Given the description of an element on the screen output the (x, y) to click on. 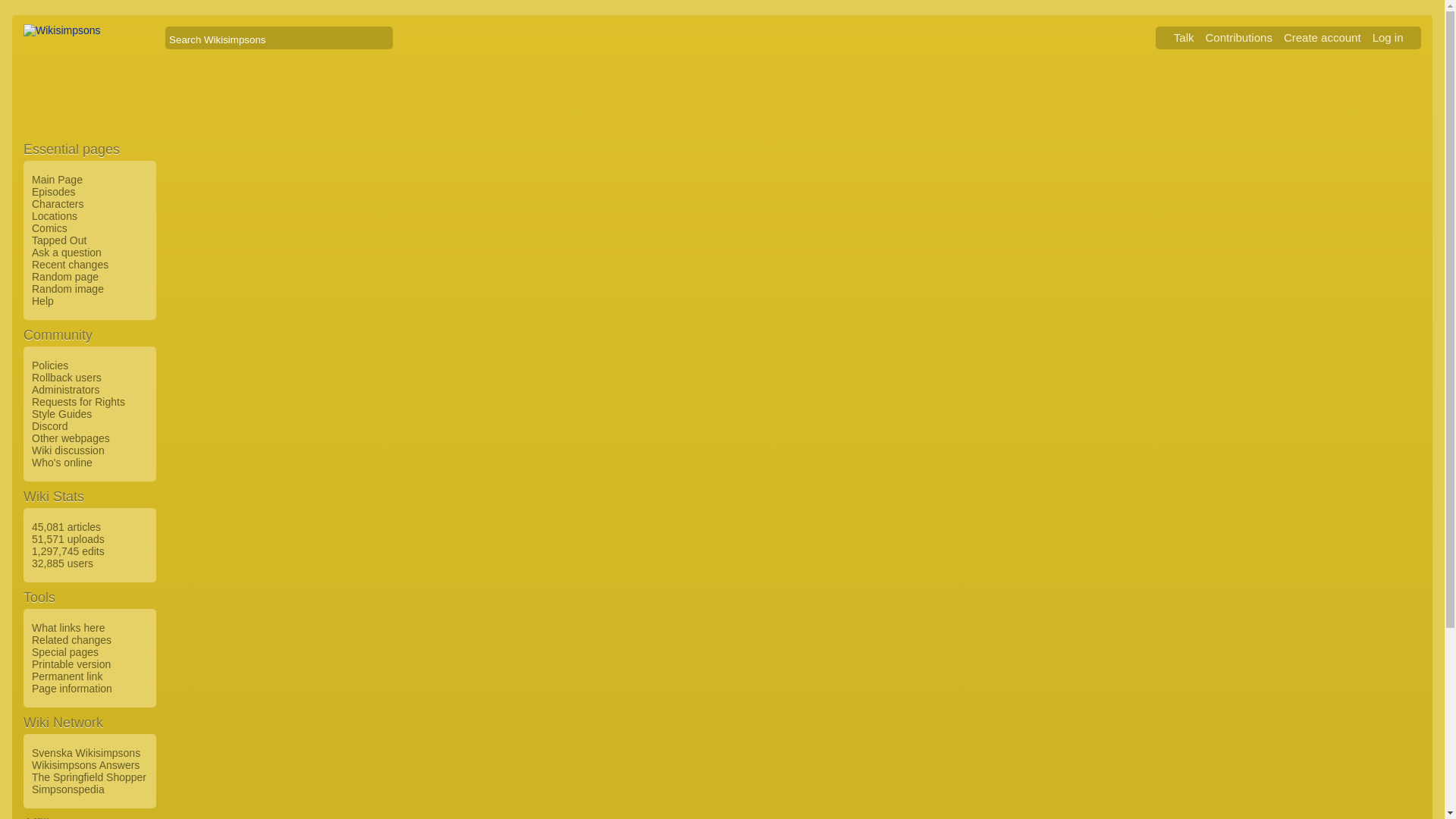
Wiki discussion (65, 450)
Random page (63, 276)
45,081 articles (63, 526)
Style Guides (59, 413)
Recent changes (67, 264)
Episodes (51, 191)
32,885 users (60, 563)
Help (40, 300)
Requests for Rights (76, 401)
Svenska Wikisimpsons (83, 752)
Simpsonspedia (65, 788)
51,571 uploads (65, 539)
Policies (47, 365)
Rollback users (64, 377)
